Given the description of an element on the screen output the (x, y) to click on. 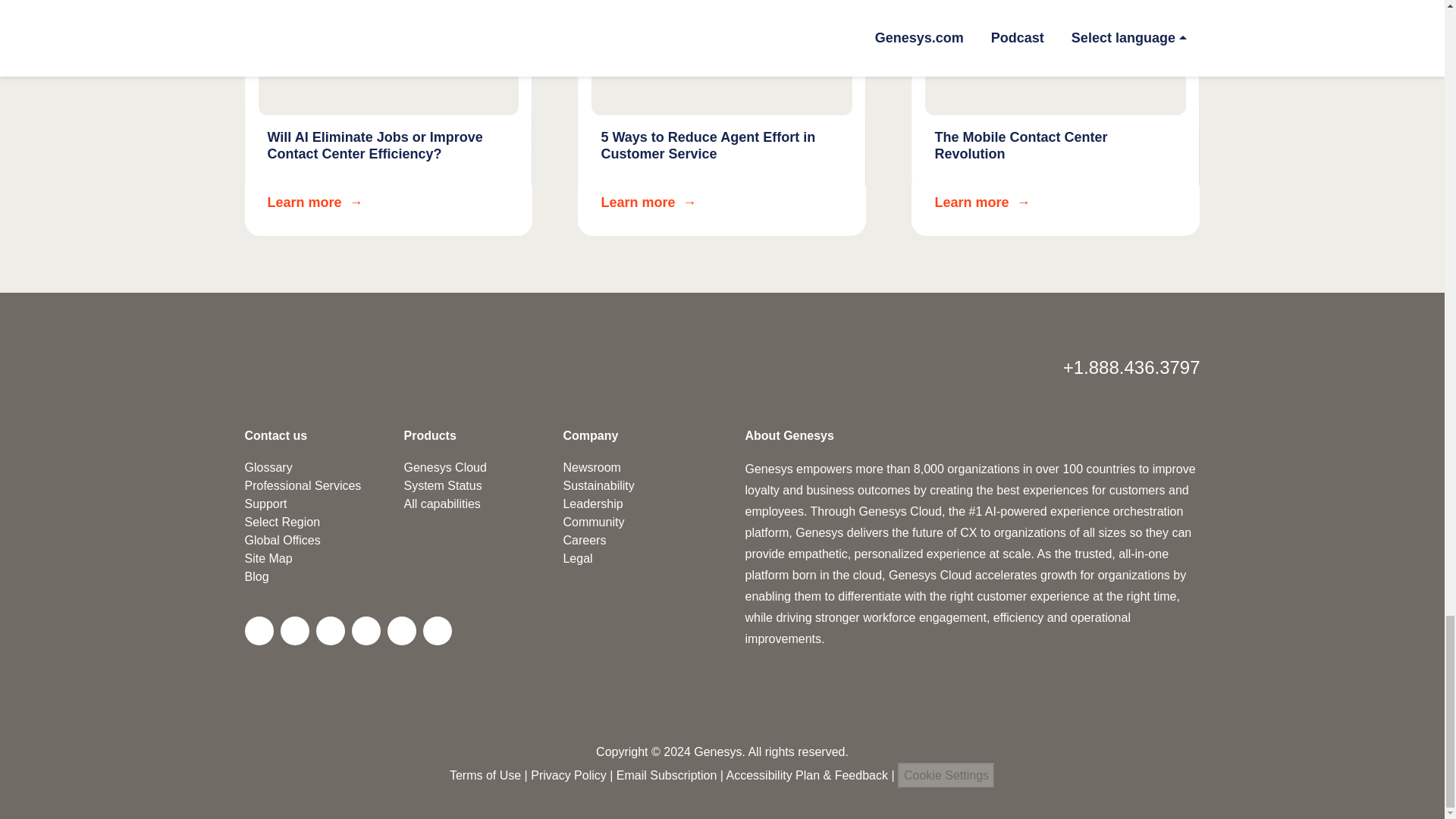
Professional Services (302, 485)
Global Offices (282, 540)
Contact us (275, 435)
Support (265, 503)
Glossary (268, 467)
Select Region (722, 117)
